Given the description of an element on the screen output the (x, y) to click on. 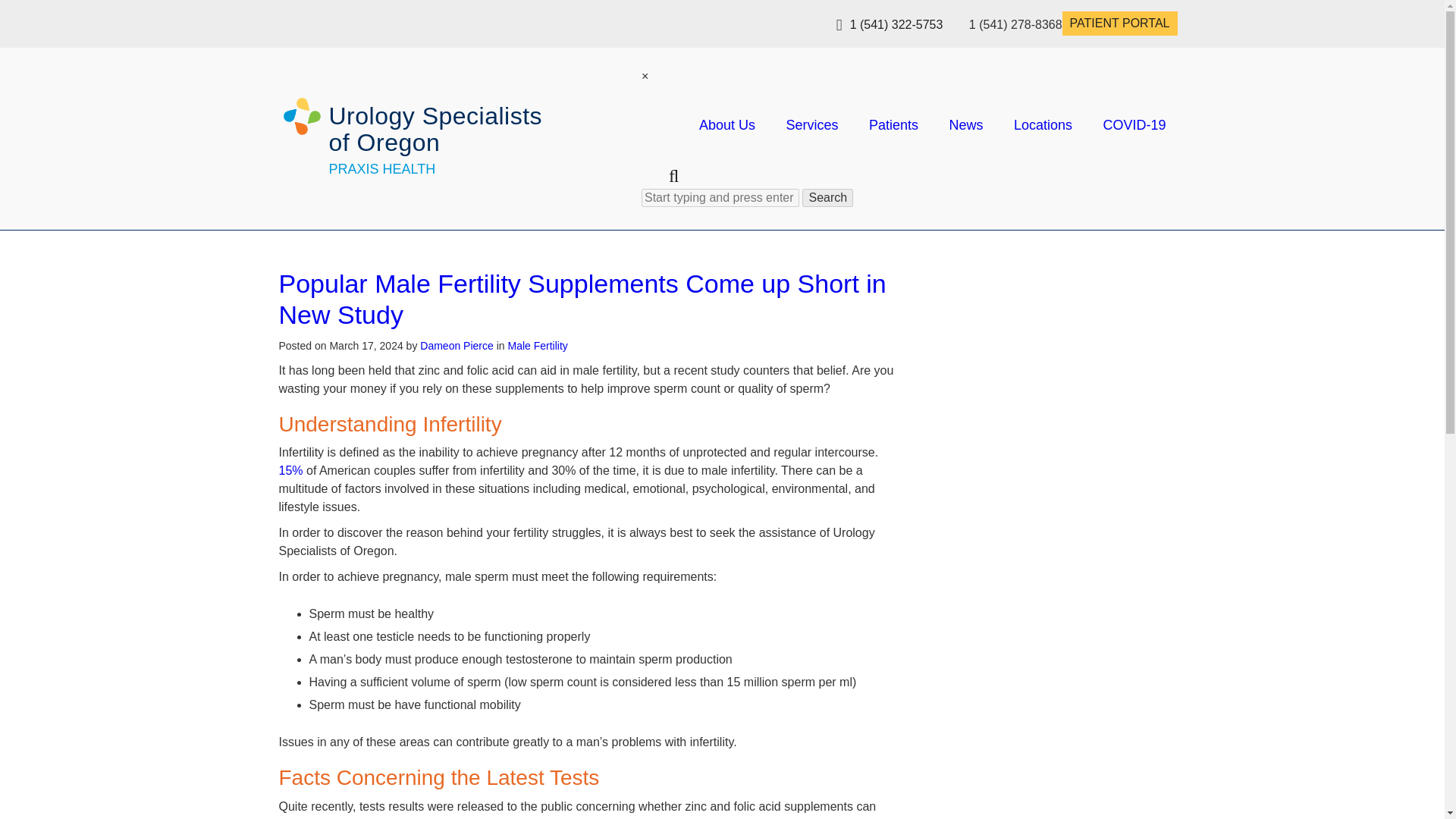
Search (827, 198)
Services (812, 124)
Search (827, 198)
Male Fertility (536, 345)
About Us (726, 124)
Locations (1042, 124)
Dameon Pierce (456, 345)
Posts by Dameon Pierce (456, 345)
Search (827, 198)
News (965, 124)
PATIENT PORTAL (1119, 23)
COVID-19 (1134, 124)
Patients (893, 124)
